Given the description of an element on the screen output the (x, y) to click on. 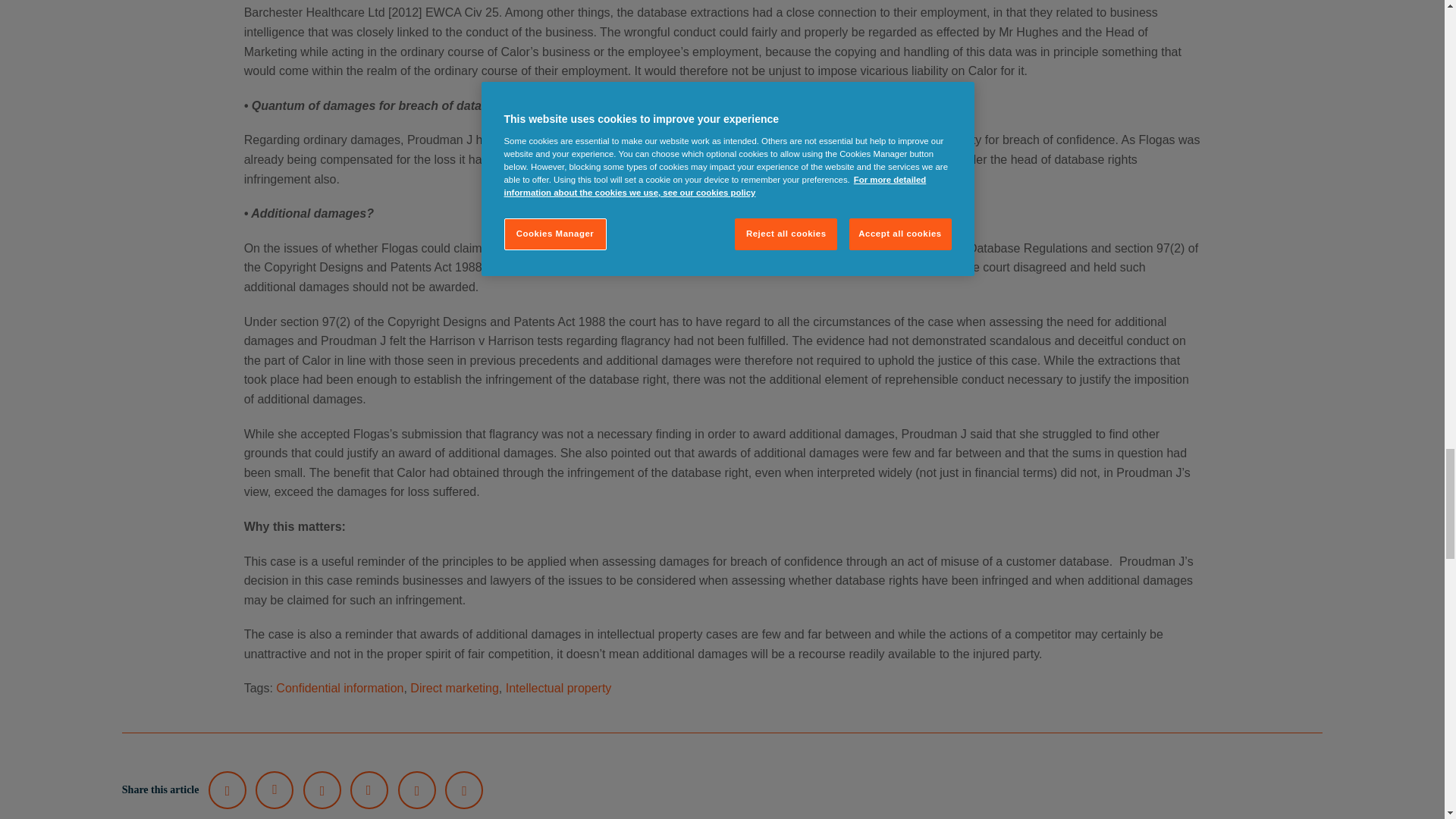
marketinglaw Print Article (464, 790)
Intellectual property (558, 687)
Confidential information (339, 687)
marketinglaw Facebook account (369, 790)
marketinglaw Twitter account (227, 790)
marketinglaw LinkedIn account (275, 790)
Direct marketing (453, 687)
marketinglaw Email Article Link (416, 790)
marketinglaw Google Plus account (321, 790)
